Given the description of an element on the screen output the (x, y) to click on. 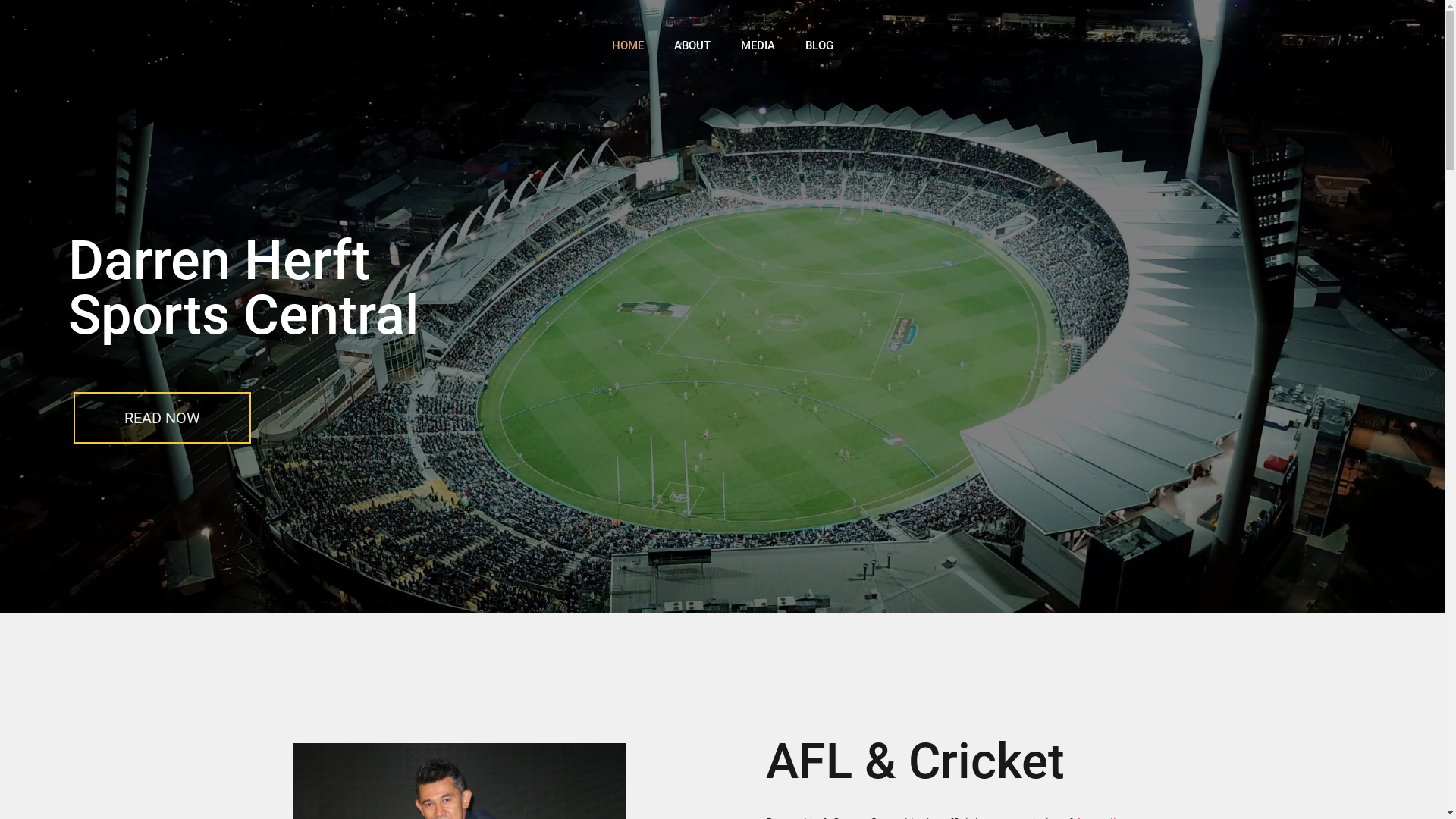
ABOUT Element type: text (691, 45)
HOME Element type: text (627, 45)
READ NOW Element type: text (162, 417)
MEDIA Element type: text (756, 45)
BLOG Element type: text (819, 45)
